Given the description of an element on the screen output the (x, y) to click on. 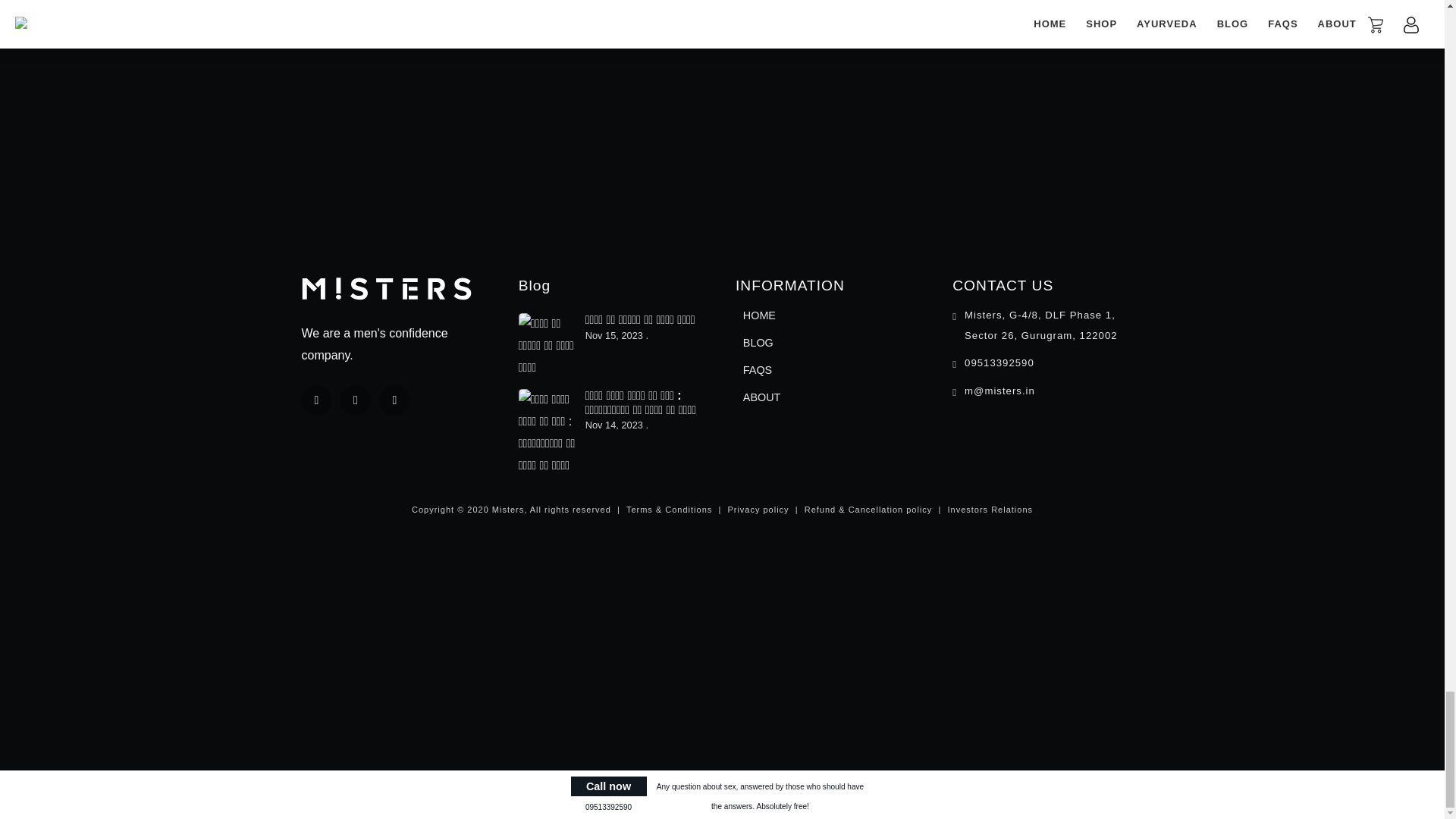
Blog (534, 285)
facebook (316, 399)
ABOUT (761, 397)
instagram (393, 399)
linkedin (355, 399)
FAQS (757, 370)
BLOG (758, 342)
HOME (758, 315)
Privacy policy (757, 509)
